Given the description of an element on the screen output the (x, y) to click on. 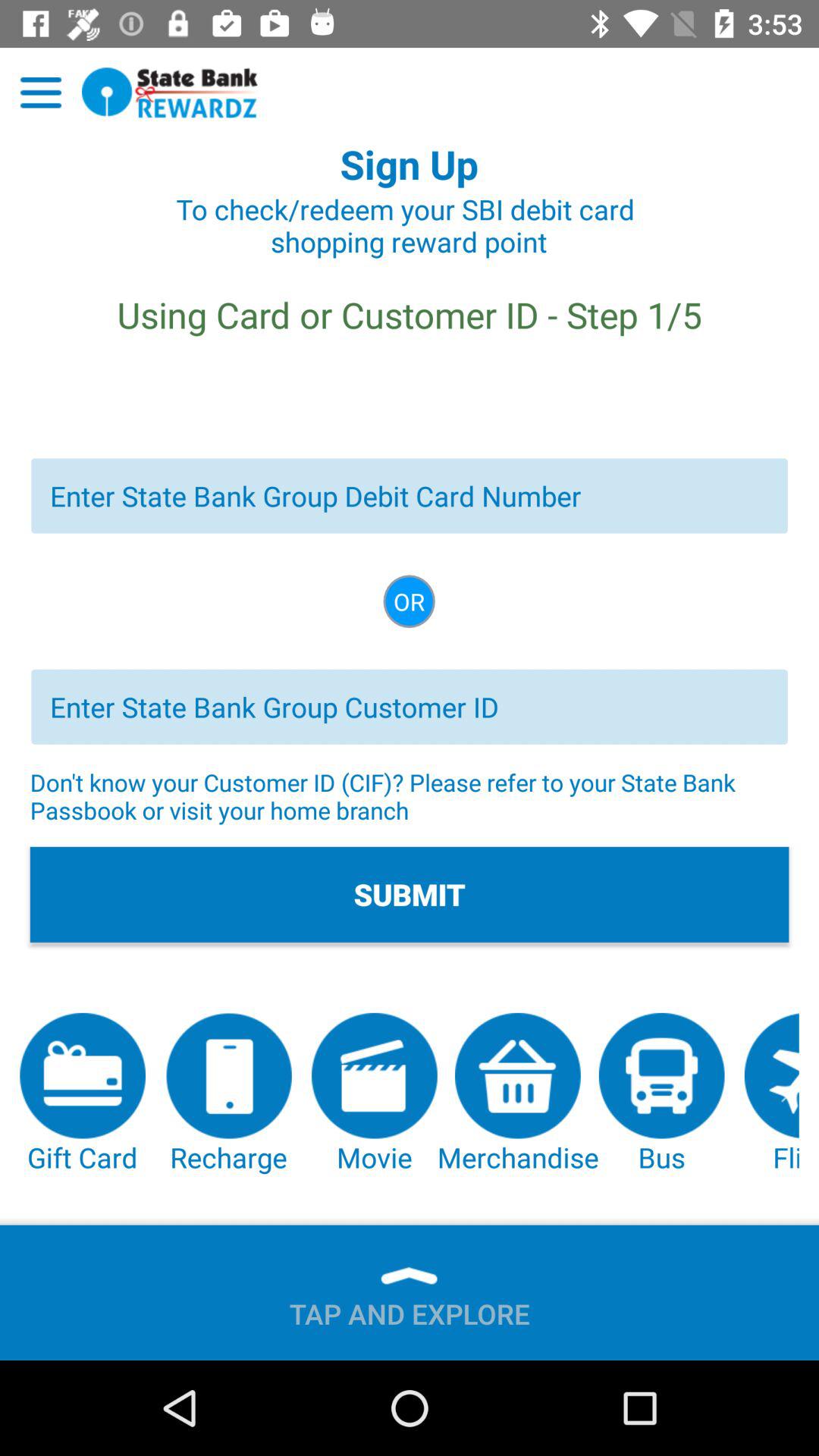
id box (409, 706)
